Given the description of an element on the screen output the (x, y) to click on. 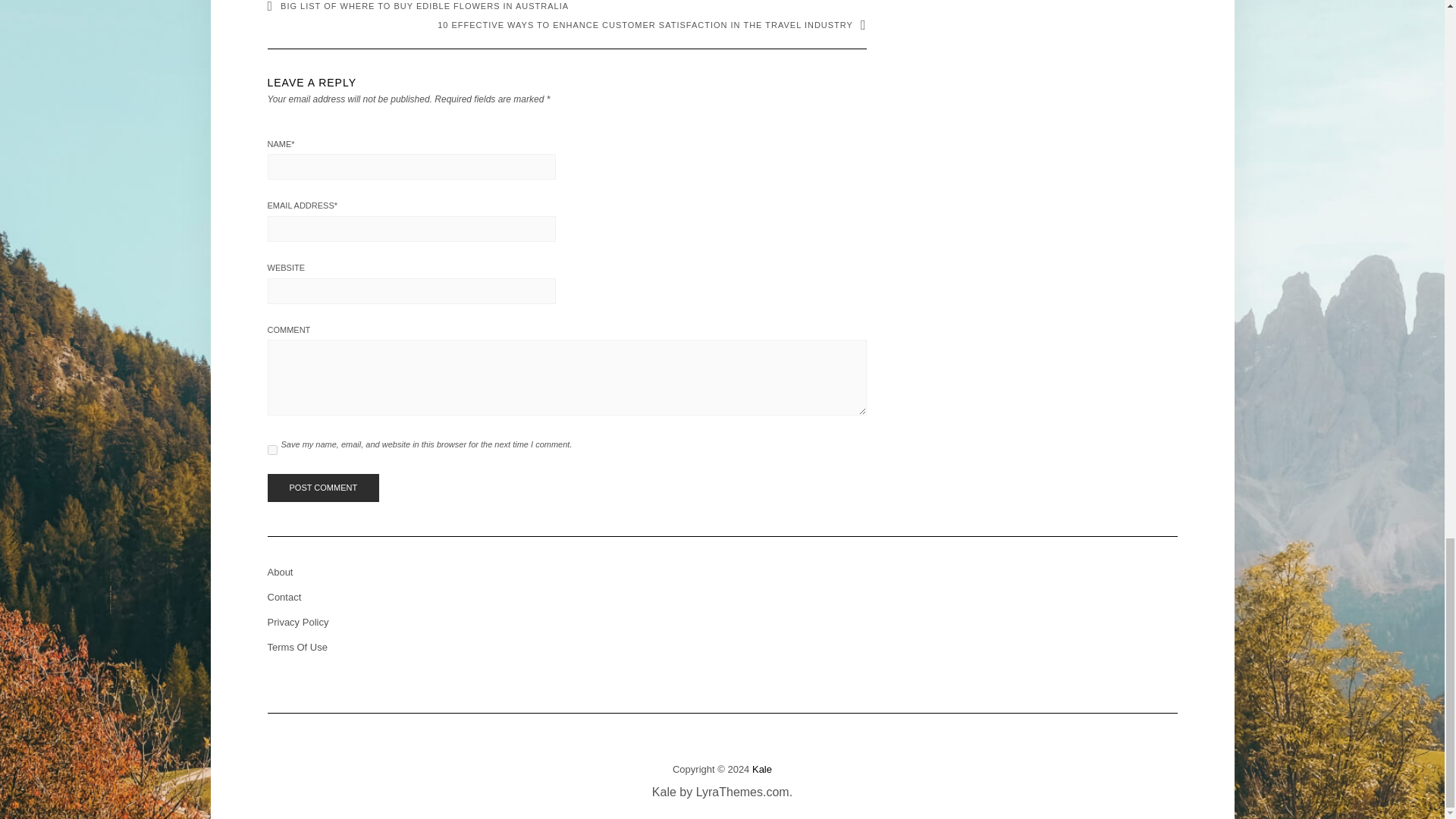
BIG LIST OF WHERE TO BUY EDIBLE FLOWERS IN AUSTRALIA (417, 5)
Privacy Policy (297, 622)
Post Comment (322, 488)
Kale (664, 791)
Kale (761, 768)
Terms Of Use (296, 646)
yes (271, 450)
Post Comment (322, 488)
About (279, 572)
Contact (283, 596)
